Given the description of an element on the screen output the (x, y) to click on. 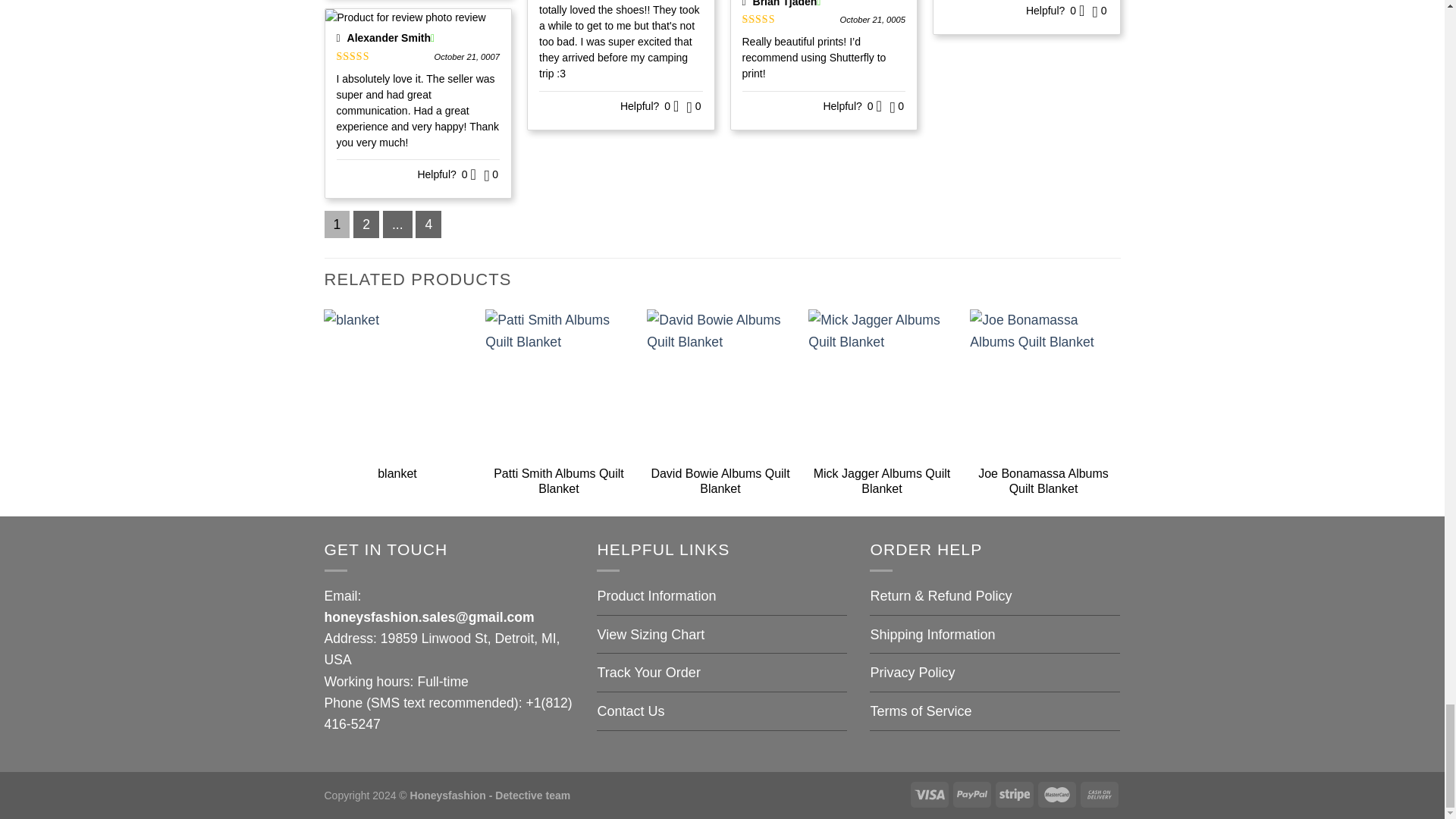
Mick Jagger Albums Quilt Blanket (881, 382)
David Bowie Albums Quilt Blanket (719, 382)
blanket (396, 382)
Patti Smith Albums Quilt Blanket (557, 382)
